Given the description of an element on the screen output the (x, y) to click on. 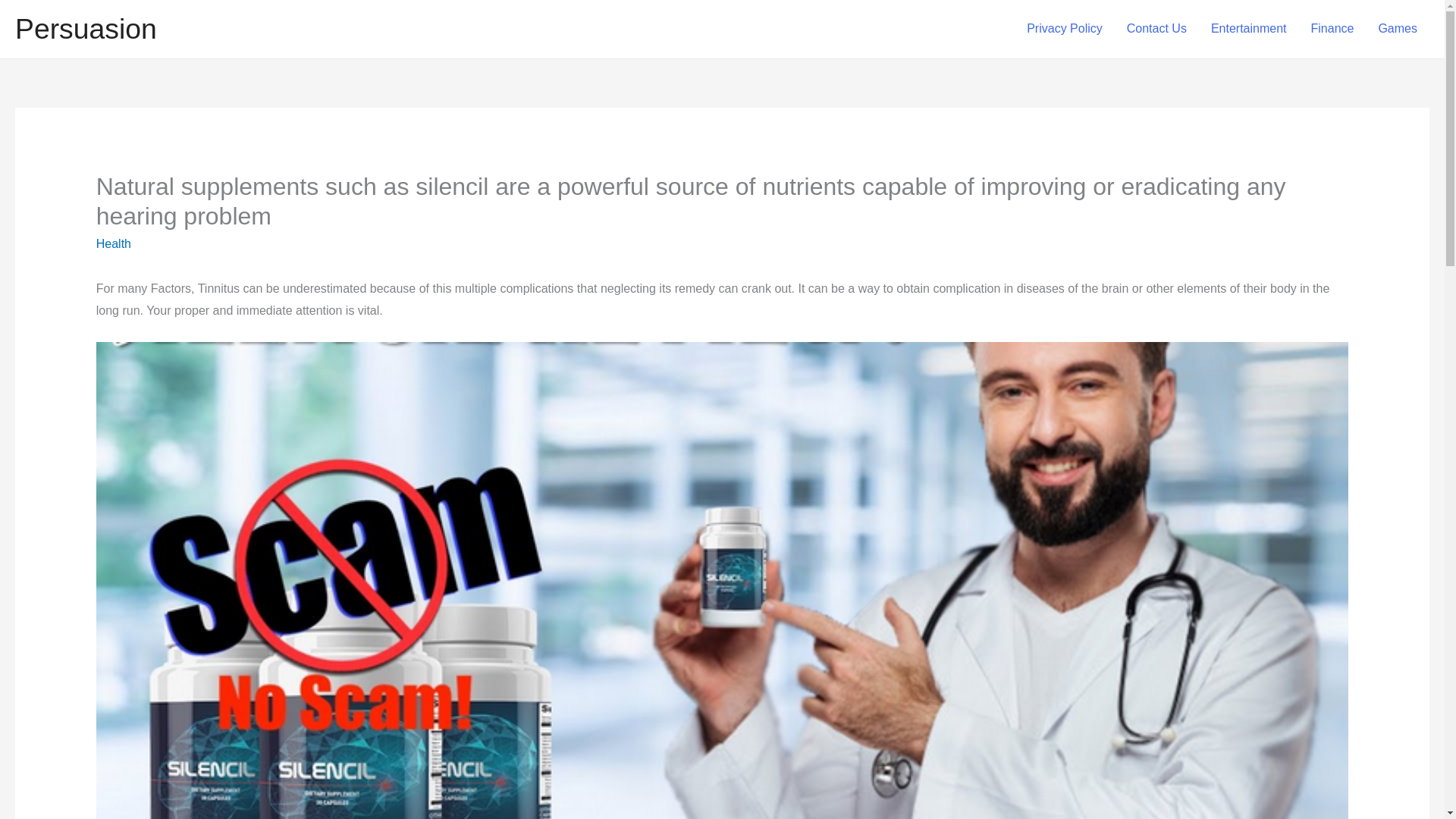
Entertainment (1248, 28)
Persuasion (85, 29)
Contact Us (1156, 28)
Games (1397, 28)
Privacy Policy (1064, 28)
Finance (1331, 28)
Health (113, 243)
